Given the description of an element on the screen output the (x, y) to click on. 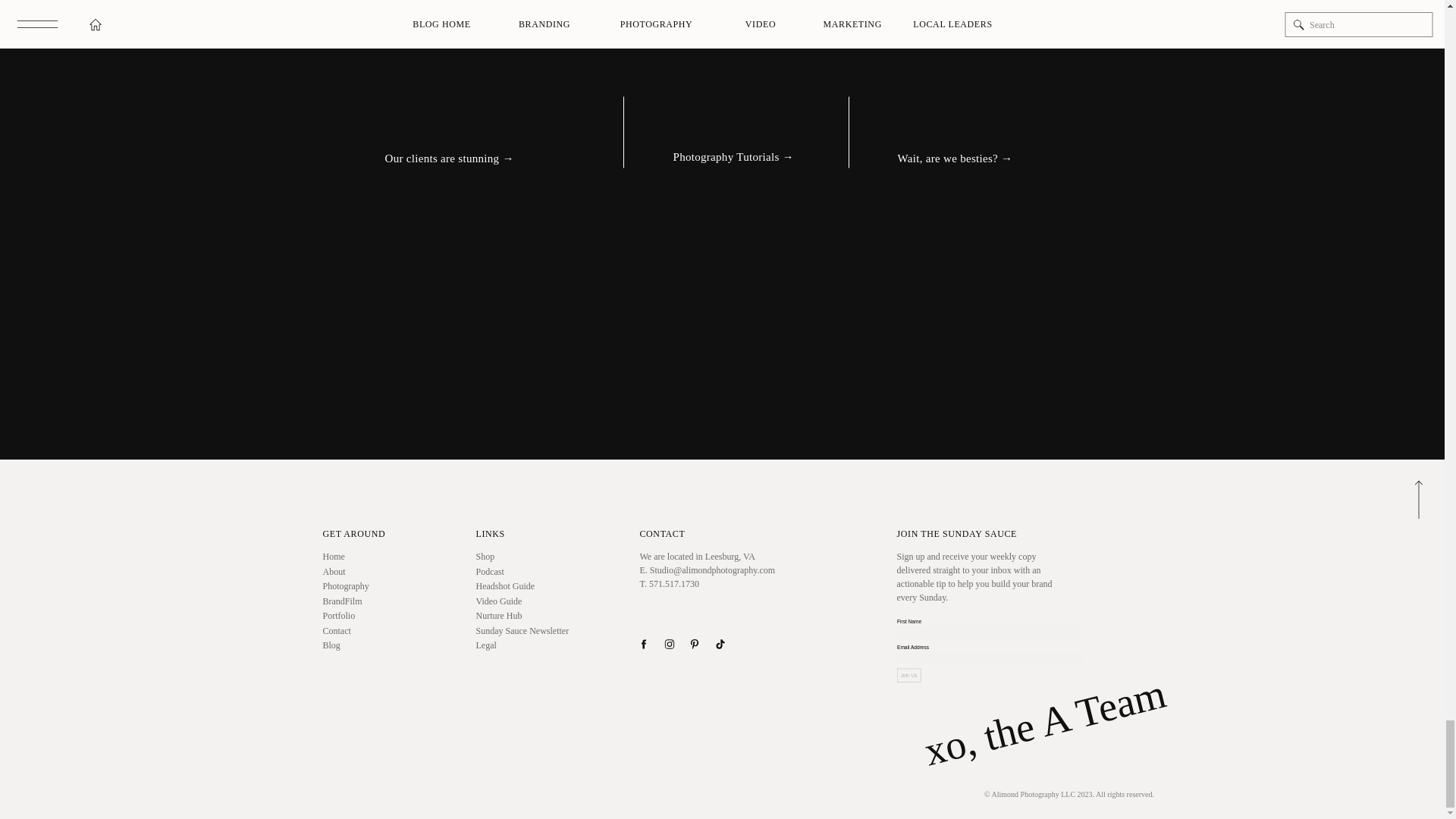
Join Us (921, 683)
